Given the description of an element on the screen output the (x, y) to click on. 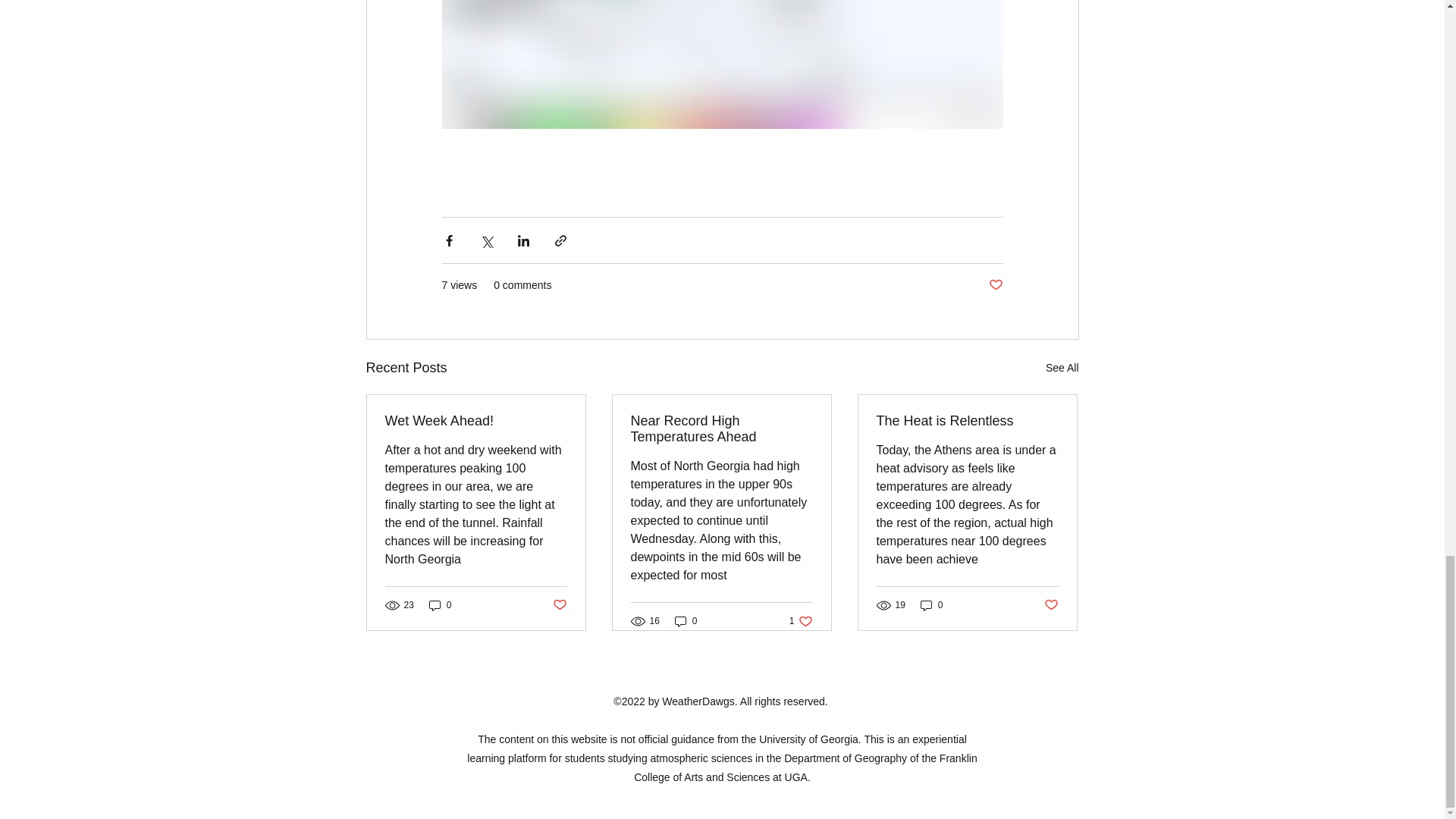
0 (685, 621)
Near Record High Temperatures Ahead (721, 429)
Post not marked as liked (1050, 605)
Post not marked as liked (995, 285)
0 (931, 605)
The Heat is Relentless (967, 421)
See All (1061, 368)
0 (440, 605)
Post not marked as liked (558, 605)
Wet Week Ahead! (800, 621)
